Given the description of an element on the screen output the (x, y) to click on. 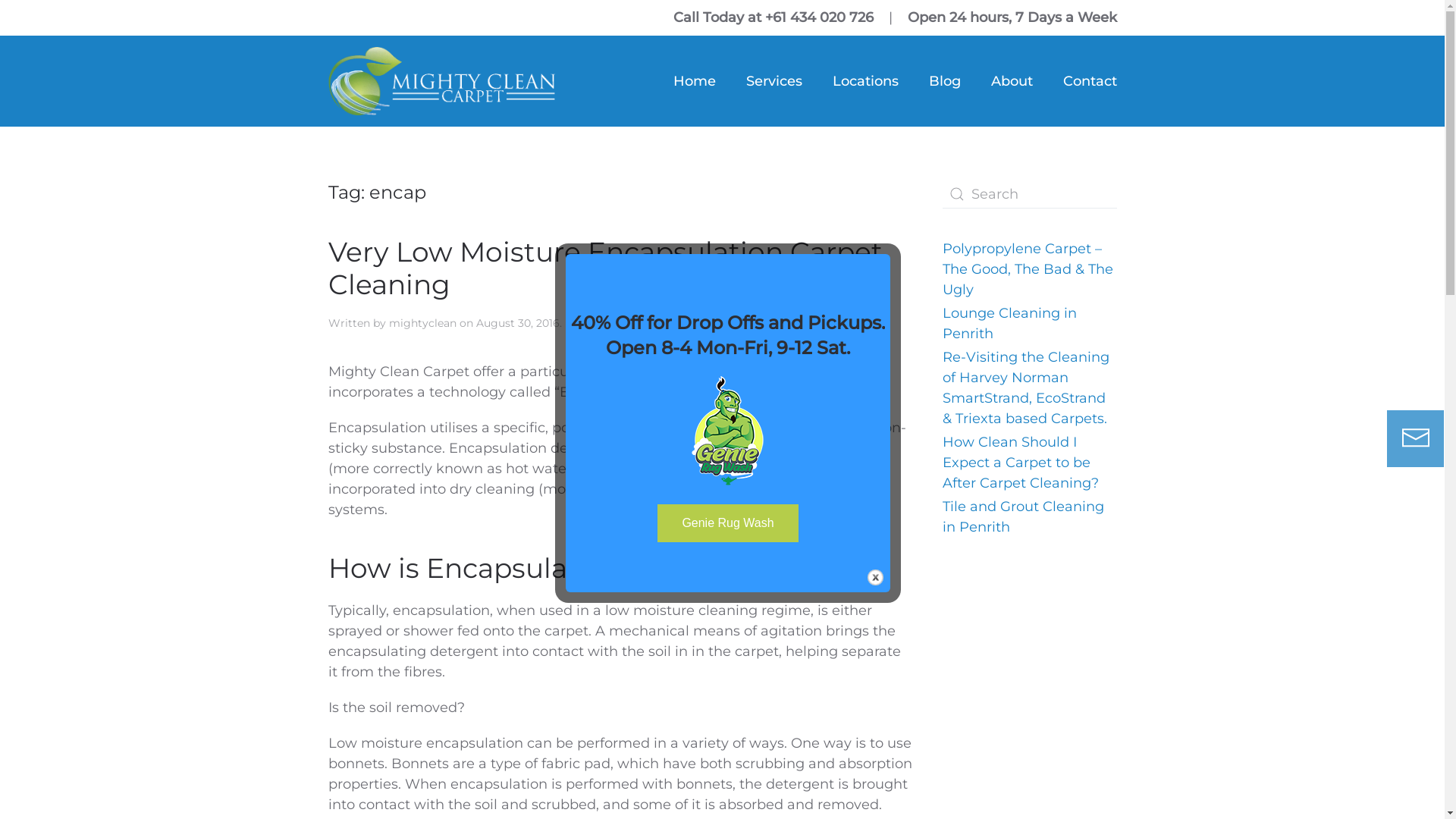
Genie Rug Wash Element type: text (727, 522)
Contact Element type: text (1090, 80)
mightyclean Element type: text (421, 322)
Encapsulation Element type: text (654, 322)
About Element type: text (1011, 80)
Blog Element type: text (944, 80)
Services Element type: text (774, 80)
Lounge Cleaning in Penrith Element type: text (1008, 323)
Home Element type: text (694, 80)
Genie Rug Wash Element type: text (727, 523)
+61 434 020 726 Element type: text (818, 17)
Close Element type: hover (875, 577)
Tile and Grout Cleaning in Penrith Element type: text (1022, 516)
Very Low Moisture Encapsulation Carpet Cleaning Element type: text (604, 268)
Locations Element type: text (865, 80)
